Given the description of an element on the screen output the (x, y) to click on. 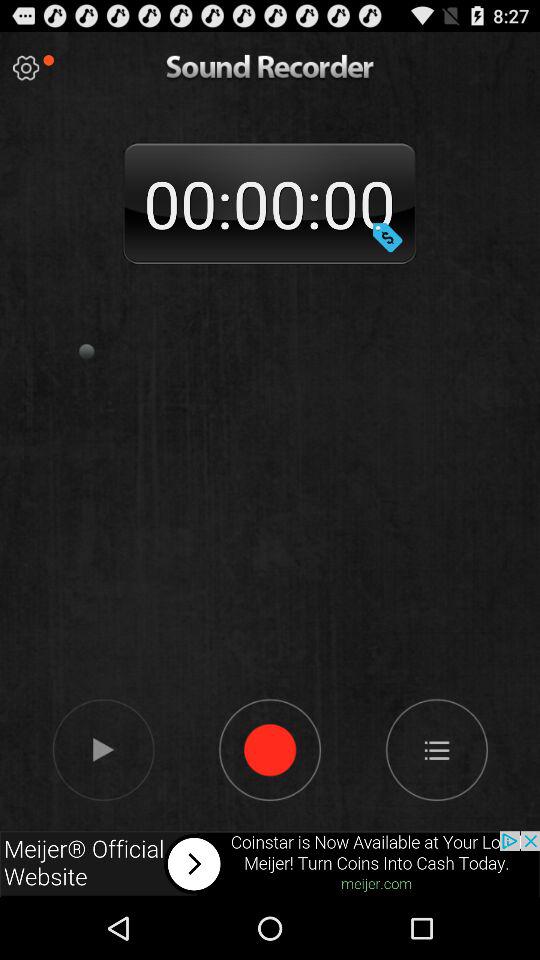
stop recording (269, 749)
